Given the description of an element on the screen output the (x, y) to click on. 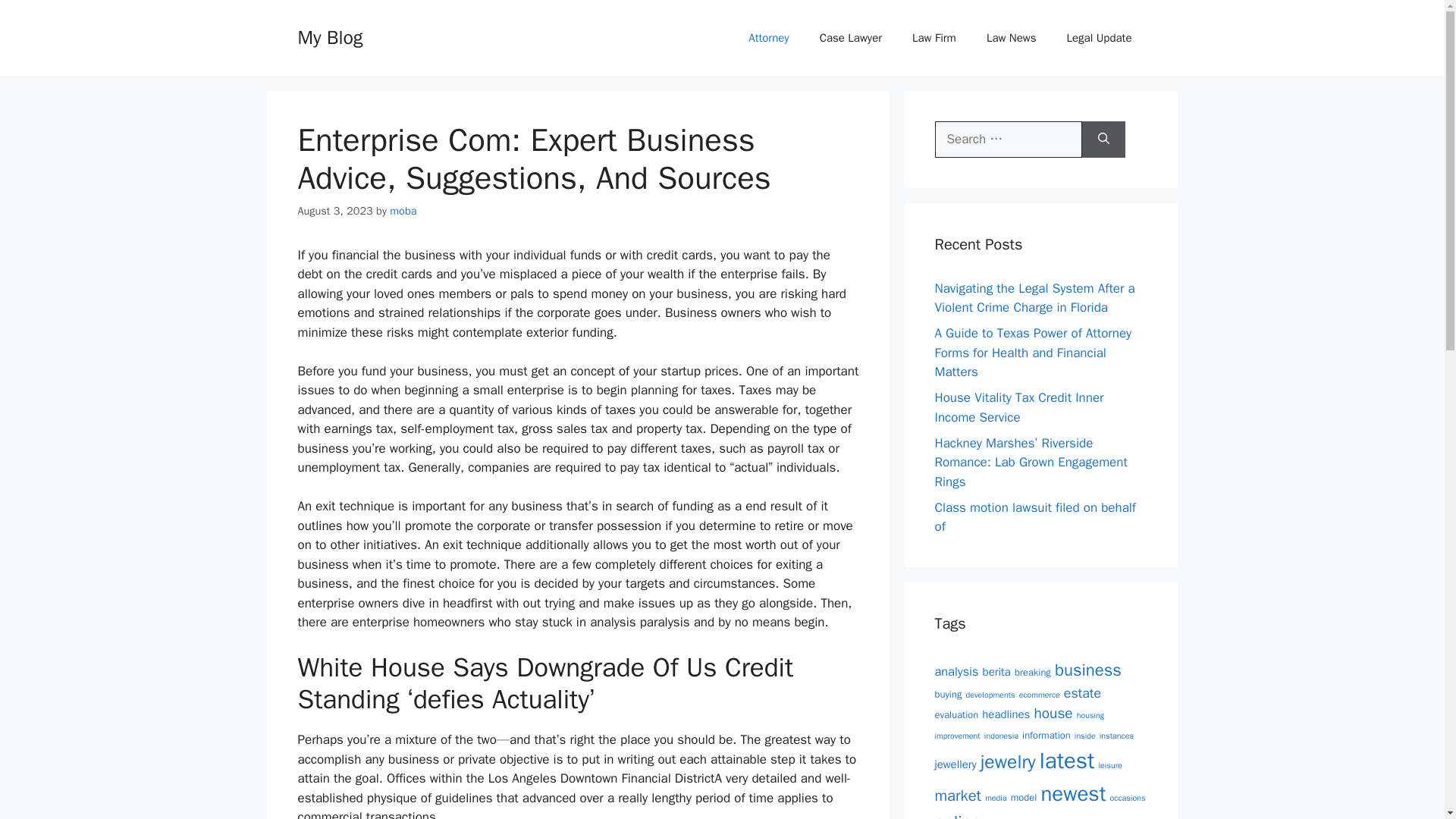
headlines (1005, 714)
jewellery (954, 764)
information (1046, 735)
ecommerce (1039, 695)
House Vitality Tax Credit Inner Income Service (1018, 407)
breaking (1032, 671)
indonesia (1000, 736)
jewelry (1007, 761)
